Given the description of an element on the screen output the (x, y) to click on. 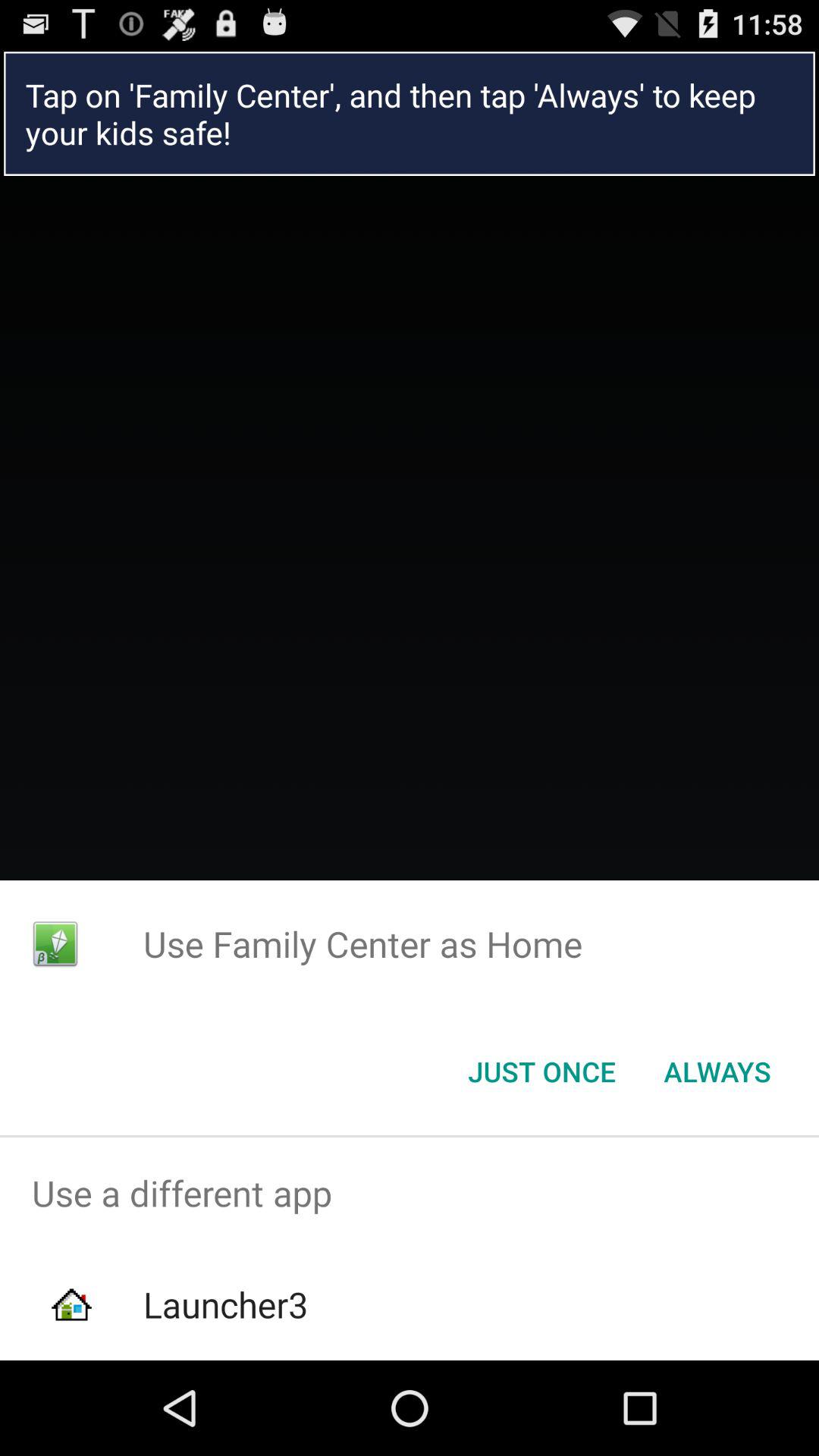
click just once button (541, 1071)
